Given the description of an element on the screen output the (x, y) to click on. 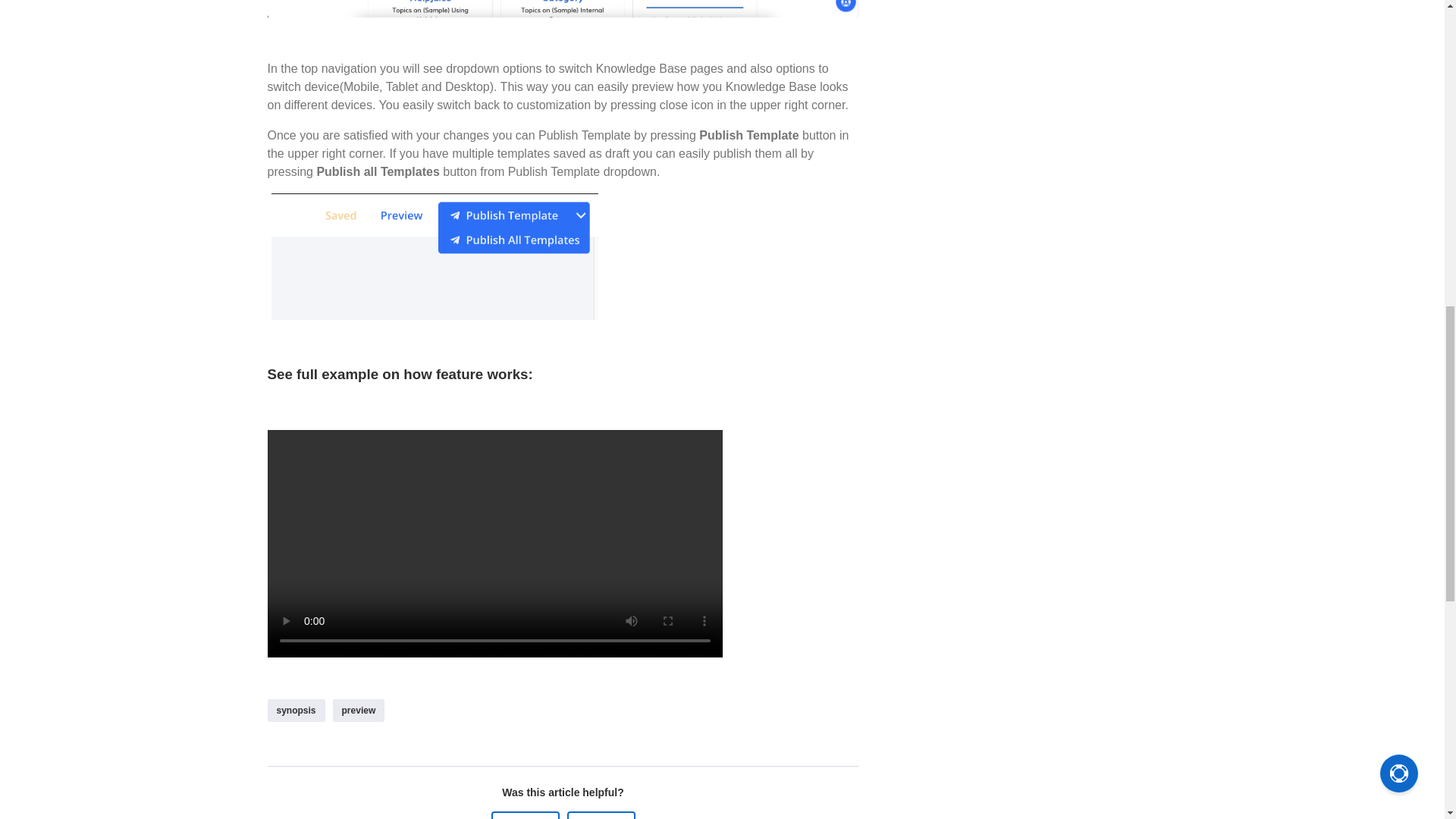
No (600, 815)
synopsis (295, 710)
preview (359, 710)
Yes (525, 815)
